Given the description of an element on the screen output the (x, y) to click on. 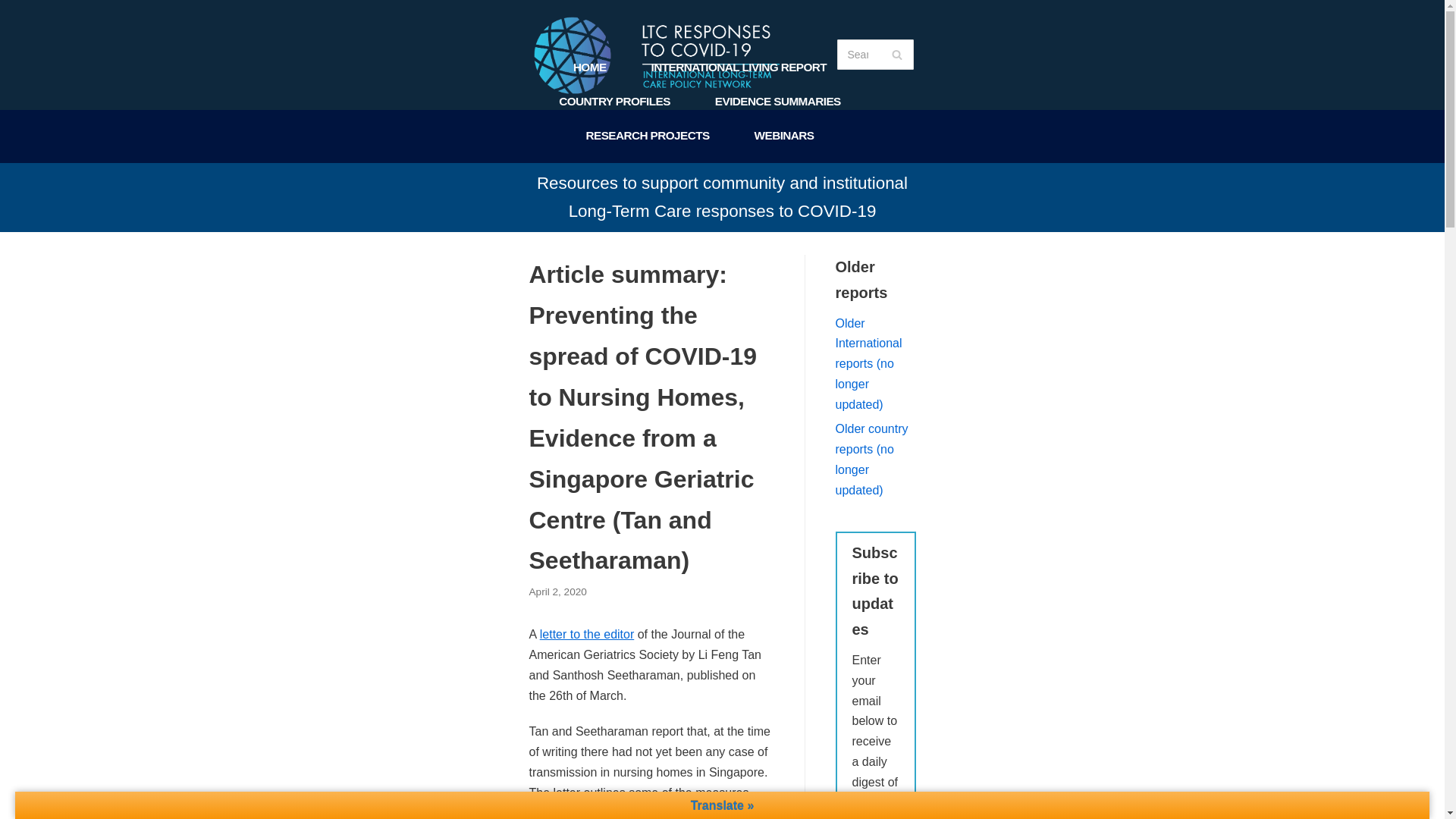
6-7 DECEMBER LTCCOVID WORKSHOP (756, 169)
EVIDENCE SUMMARIES (777, 101)
Search (896, 54)
WEBINARS (783, 135)
HIGHLIGHTS (721, 203)
COUNTRY PROFILES (614, 101)
Skip to content (15, 31)
HOME (590, 67)
letter to the editor (587, 634)
RESOURCES (573, 169)
